Given the description of an element on the screen output the (x, y) to click on. 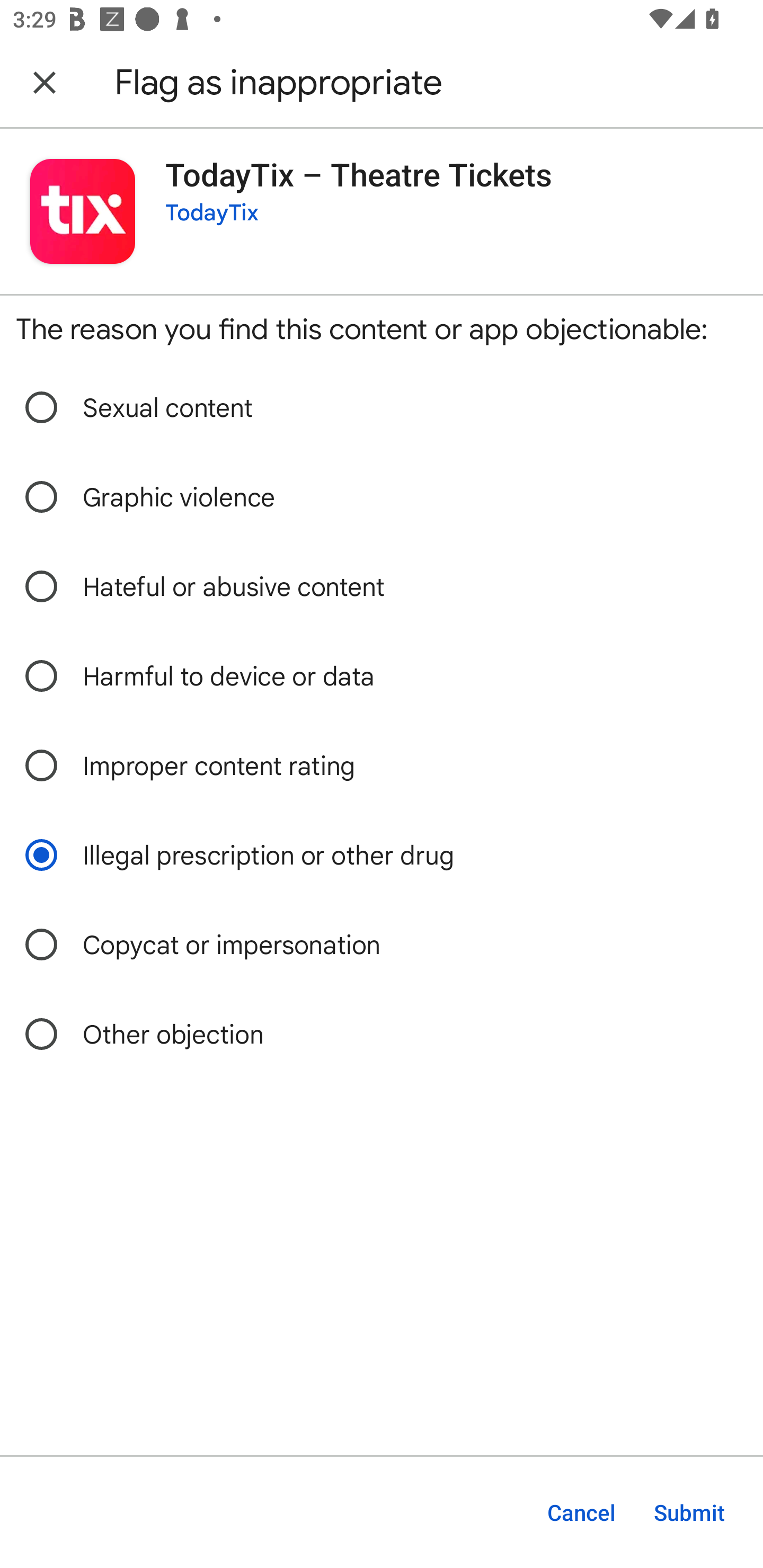
Close (44, 82)
TodayTix (212, 213)
Sexual content (381, 407)
Graphic violence (381, 497)
Hateful or abusive content (381, 586)
Harmful to device or data (381, 676)
Improper content rating (381, 765)
Illegal prescription or other drug (381, 855)
Copycat or impersonation (381, 944)
Other objection (381, 1033)
Cancel (580, 1512)
Submit (688, 1512)
